Given the description of an element on the screen output the (x, y) to click on. 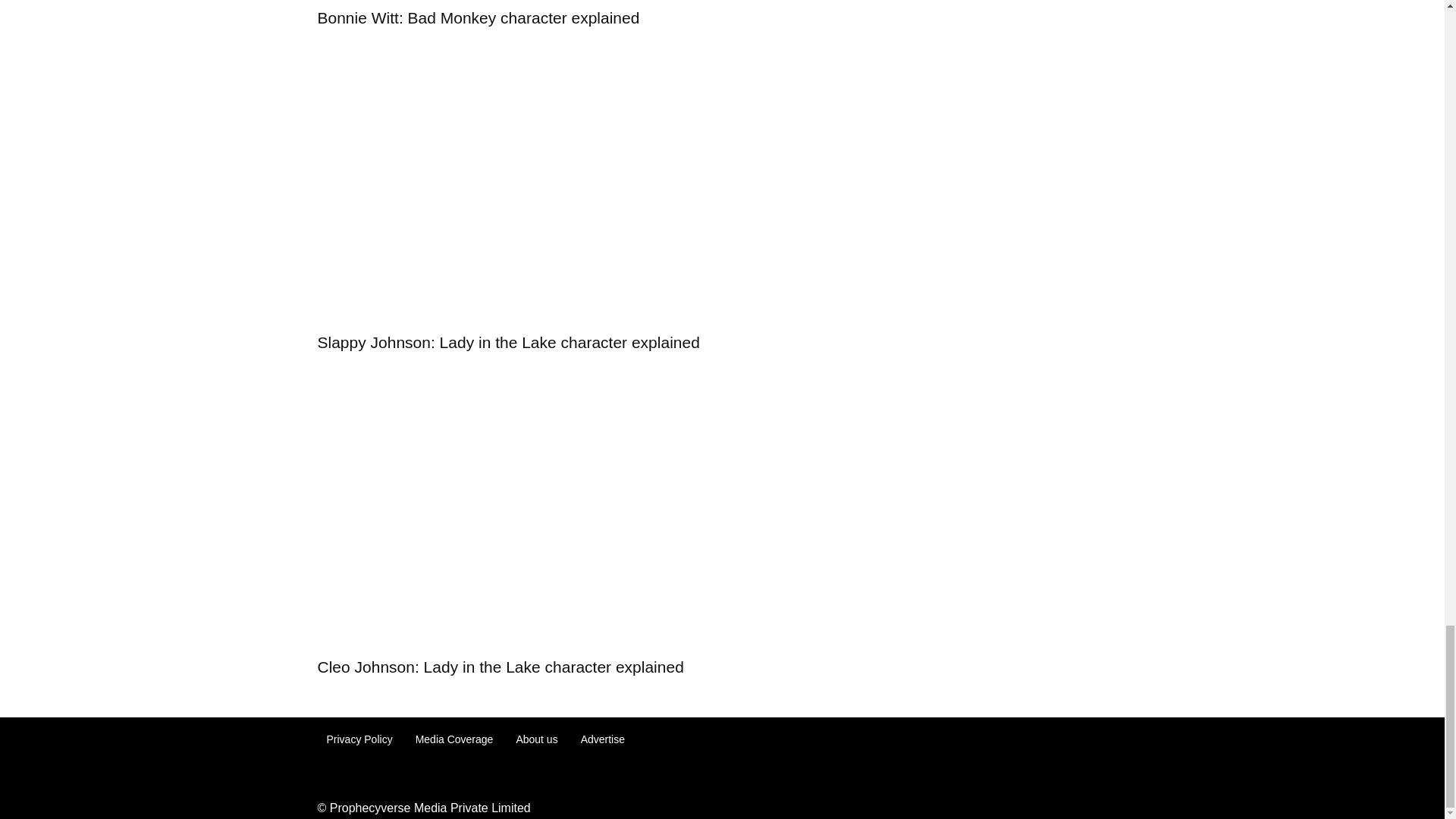
Privacy Policy (358, 739)
Media Coverage (453, 739)
Advertise (602, 739)
Bonnie Witt: Bad Monkey character explained (478, 17)
Slappy Johnson: Lady in the Lake character explained (507, 342)
About us (536, 739)
Cleo Johnson: Lady in the Lake character explained (499, 666)
